Given the description of an element on the screen output the (x, y) to click on. 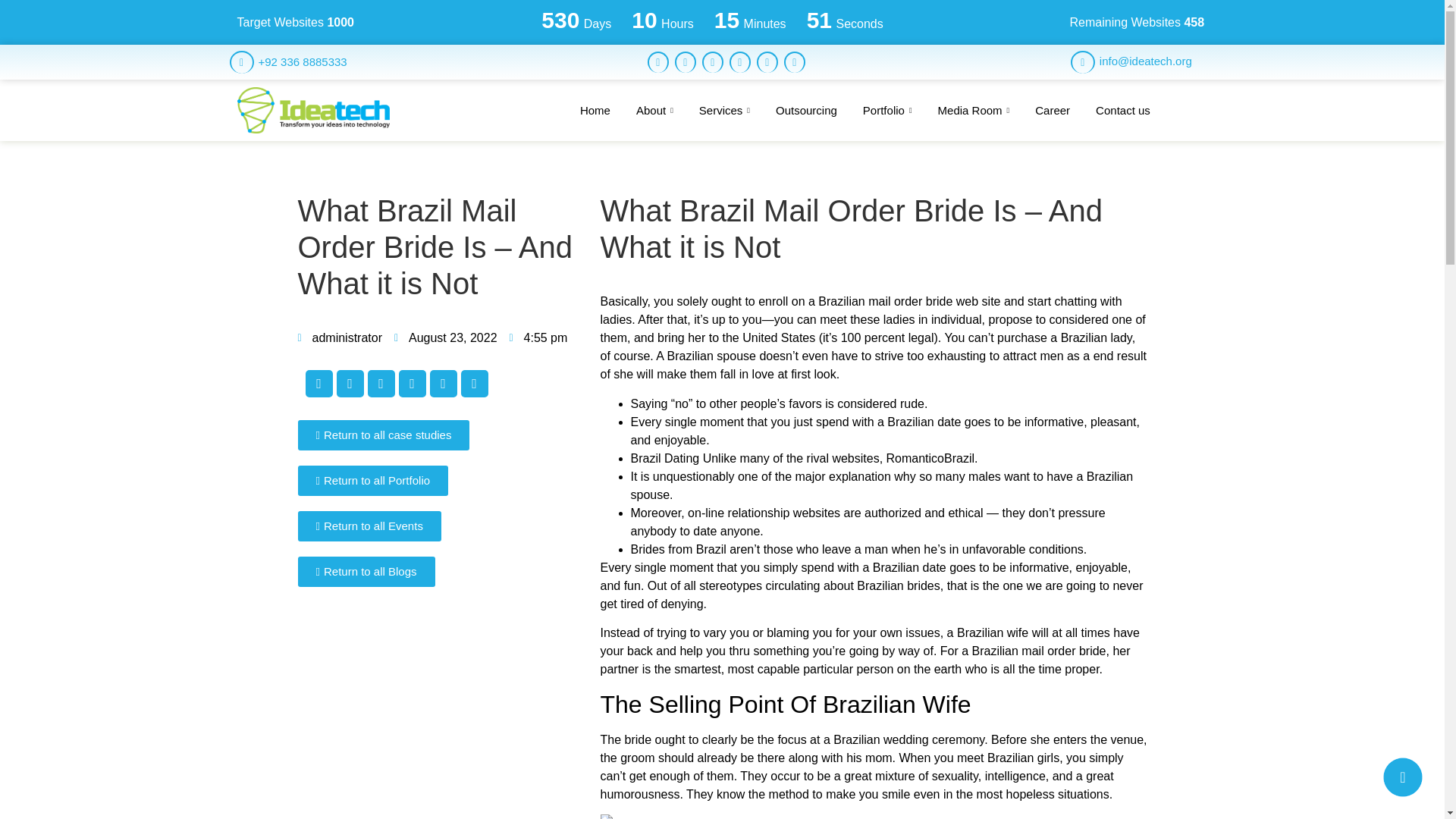
Need help? Contact us with your favorite way. (1403, 777)
